Given the description of an element on the screen output the (x, y) to click on. 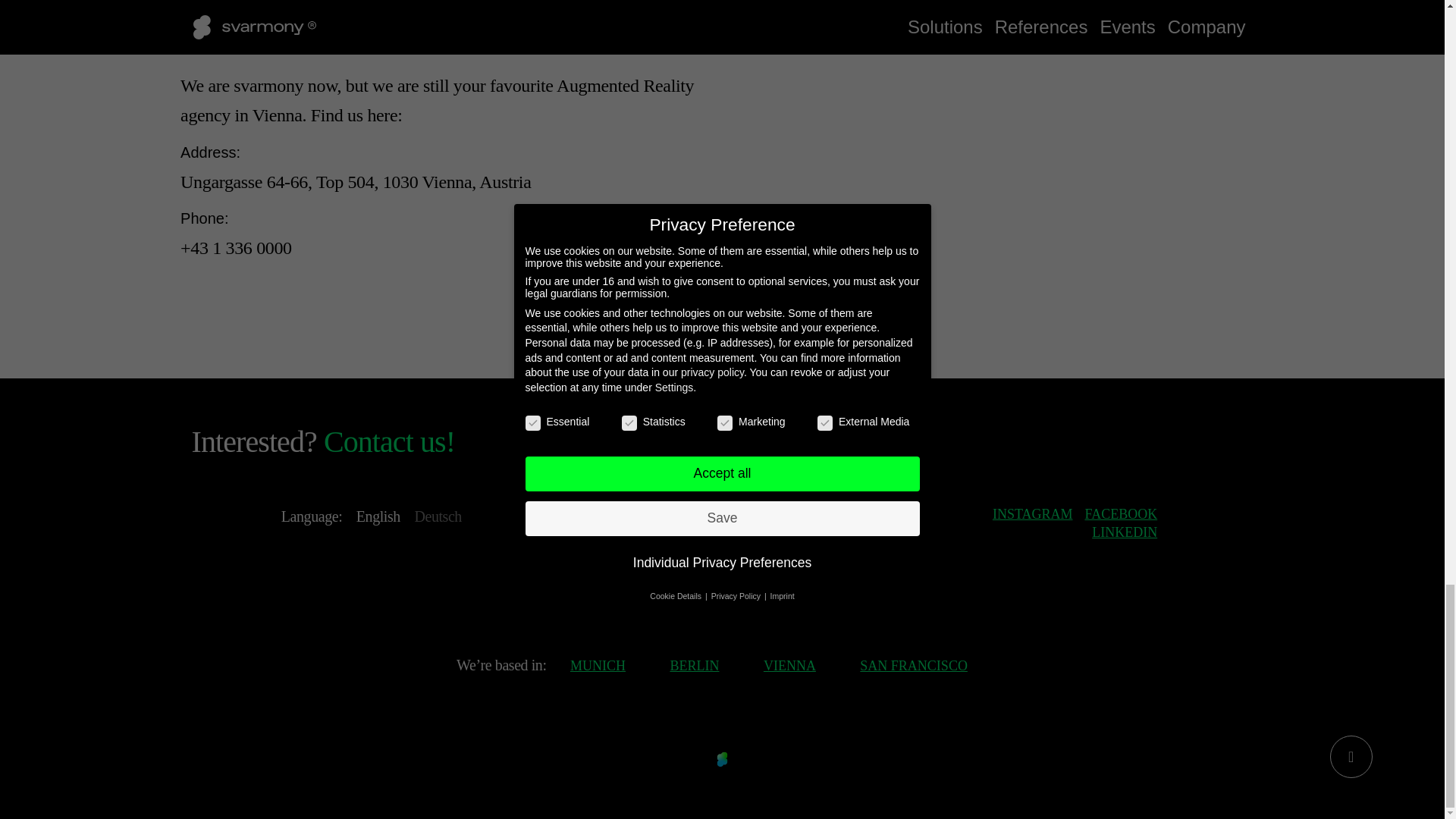
MUNICH (597, 665)
INSTAGRAM (1032, 513)
LINKEDIN (1124, 531)
Contact us! (388, 441)
Instagram (1032, 513)
About (595, 598)
Imprint (656, 598)
Deutsch (437, 515)
BERLIN (694, 665)
Media Kit (836, 598)
Privacy Policy (742, 598)
FACEBOOK (1120, 513)
Facebook (1120, 513)
English (378, 515)
VIENNA (789, 665)
